Given the description of an element on the screen output the (x, y) to click on. 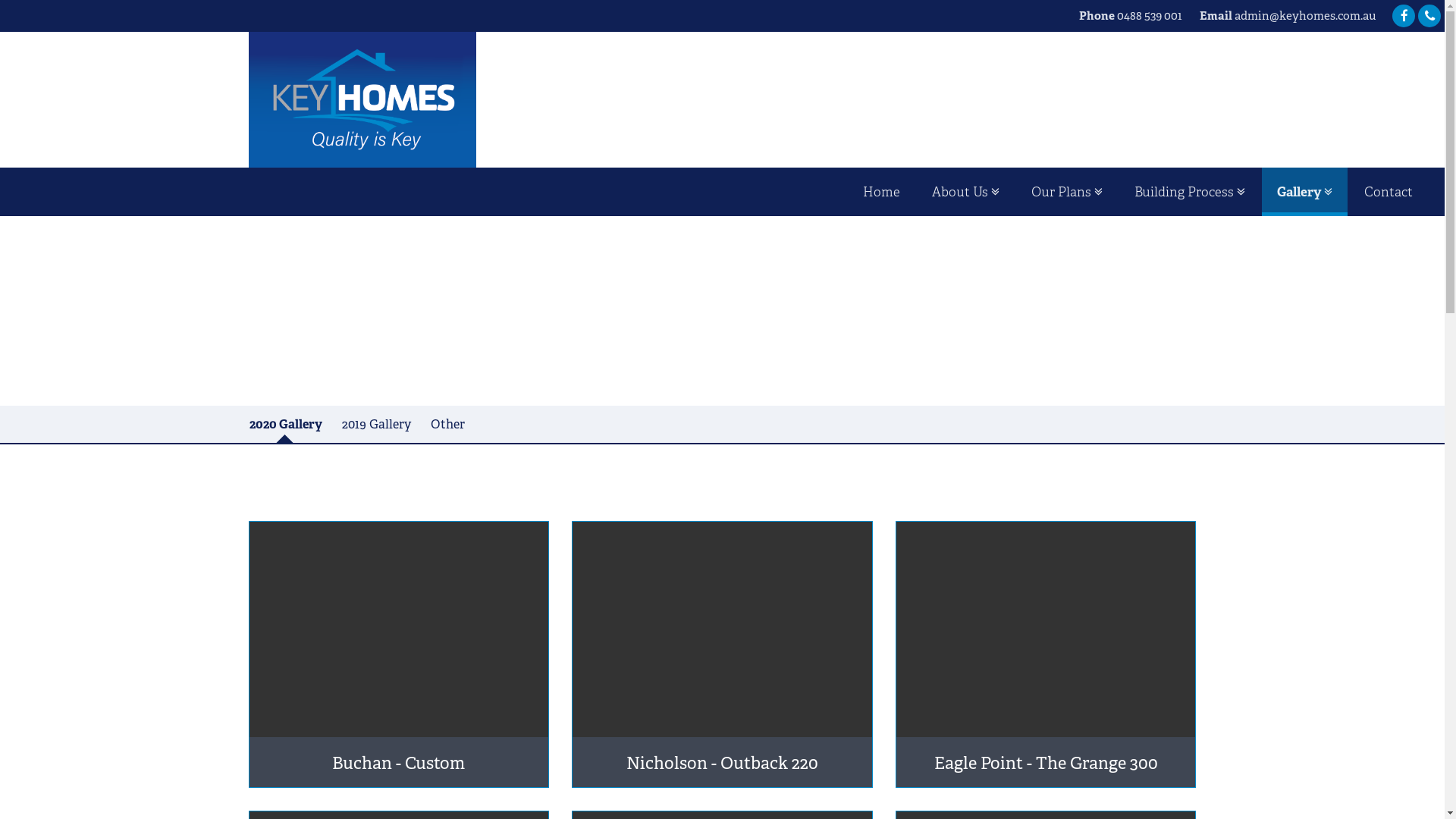
2020 Gallery Element type: text (285, 423)
Building Process Element type: text (1189, 191)
About Us Element type: text (965, 191)
Contact Element type: text (1388, 191)
Eagle Point - The Grange 300 Element type: text (1046, 653)
Home Element type: text (881, 191)
Other Element type: text (446, 423)
Buchan - Custom Element type: text (398, 653)
Email admin@keyhomes.com.au Element type: text (1287, 15)
Our Plans Element type: text (1066, 191)
Phone 0488 539 001 Element type: text (1130, 15)
Nicholson - Outback 220 Element type: text (722, 653)
Gallery Element type: text (1304, 191)
2019 Gallery Element type: text (376, 423)
